Given the description of an element on the screen output the (x, y) to click on. 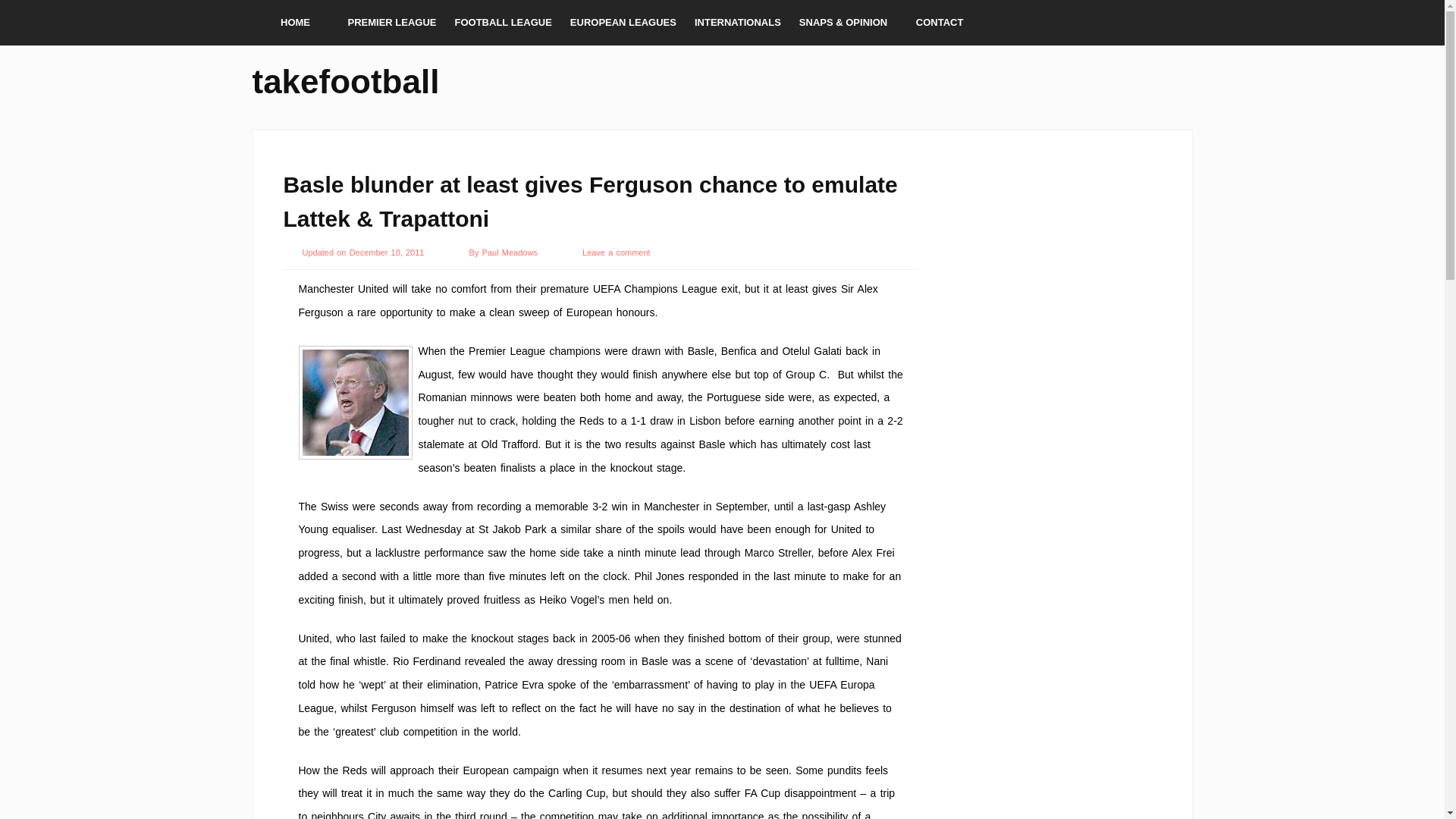
HOME (294, 22)
Sir Alex Ferguson (355, 402)
PREMIER LEAGUE (391, 22)
CONTACT (939, 22)
Paul Meadows (510, 252)
INTERNATIONALS (737, 22)
takefootball (345, 79)
FOOTBALL LEAGUE (502, 22)
Leave a comment (616, 252)
EUROPEAN LEAGUES (622, 22)
